Given the description of an element on the screen output the (x, y) to click on. 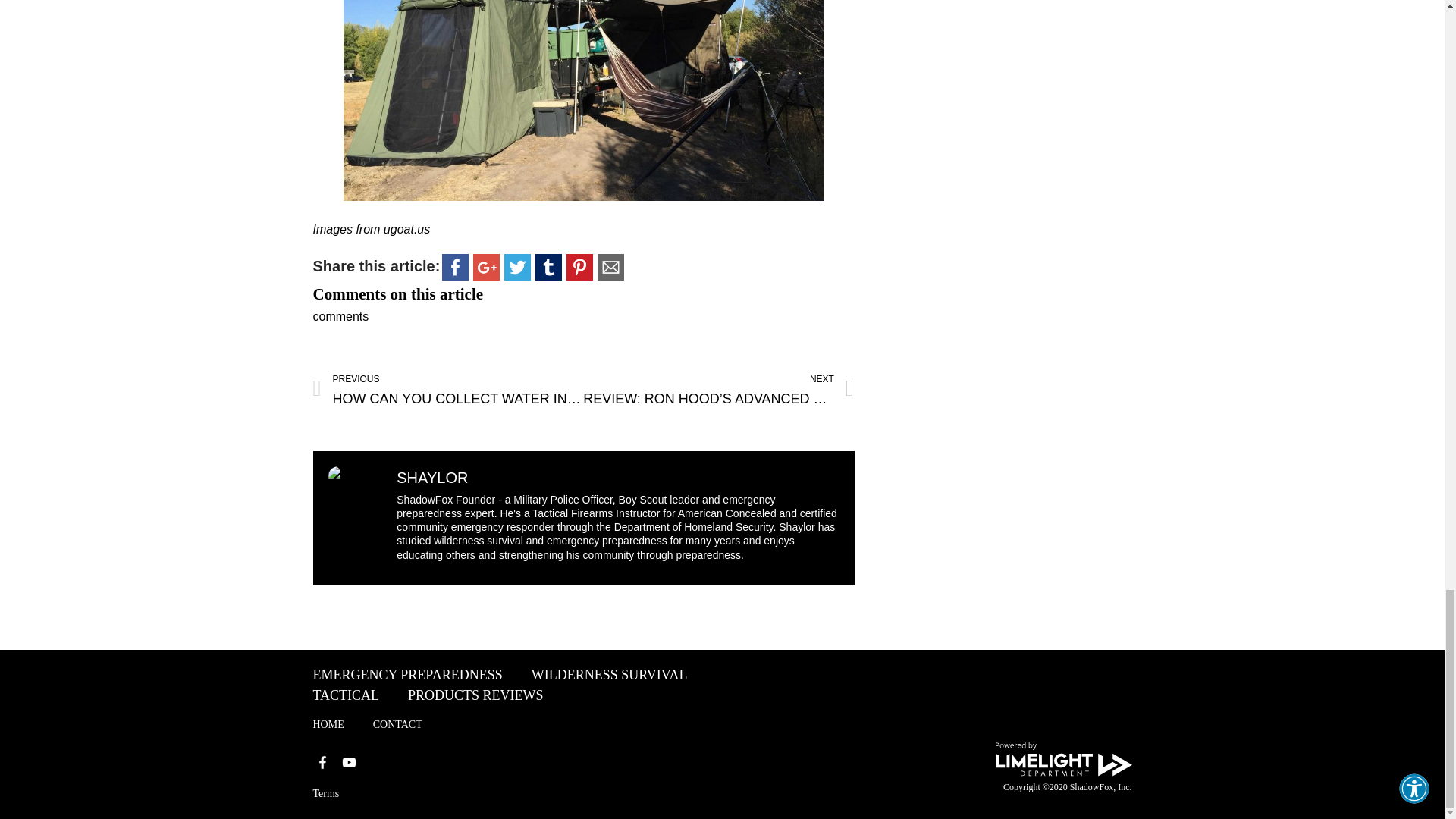
email (610, 266)
pinterest (448, 389)
tumblr (579, 266)
facebook (548, 266)
google (454, 266)
twitter (486, 266)
